Given the description of an element on the screen output the (x, y) to click on. 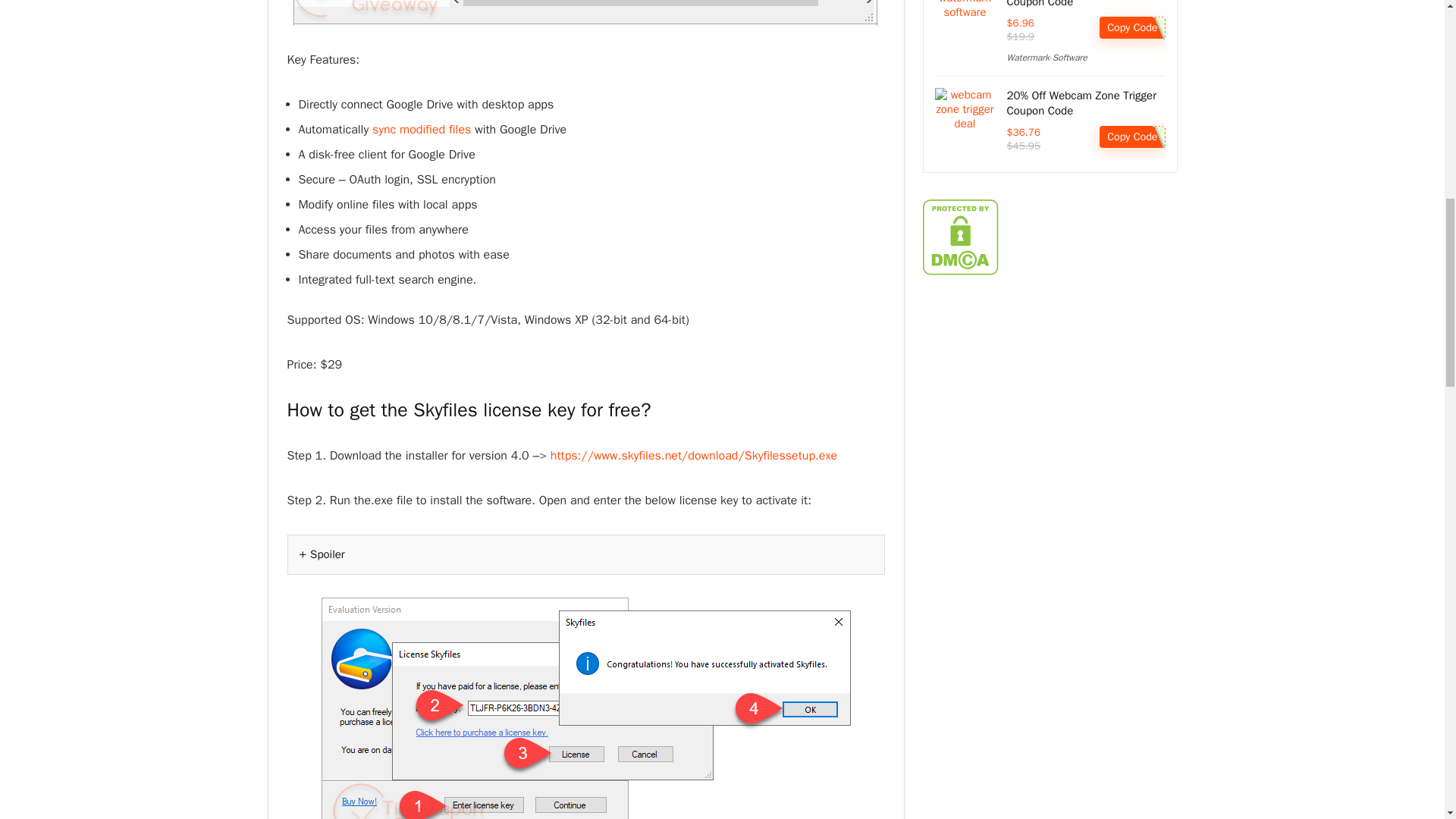
DMCA.com Protection Status (959, 205)
sync modified files (421, 129)
Skyfiles Giveaway (585, 12)
Skyfiles Activate (585, 708)
